Given the description of an element on the screen output the (x, y) to click on. 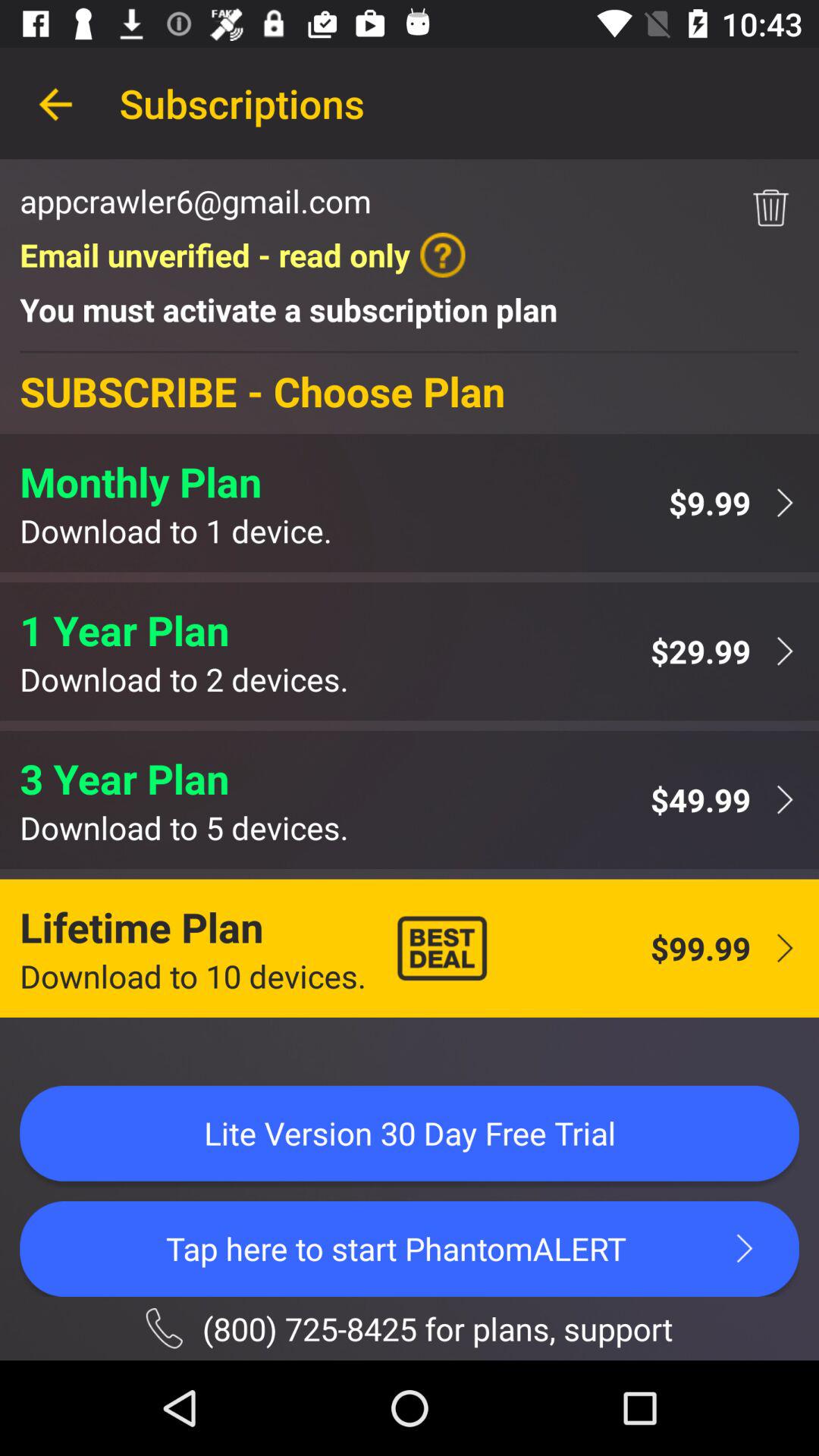
select item to the left of the subscriptions item (55, 103)
